Given the description of an element on the screen output the (x, y) to click on. 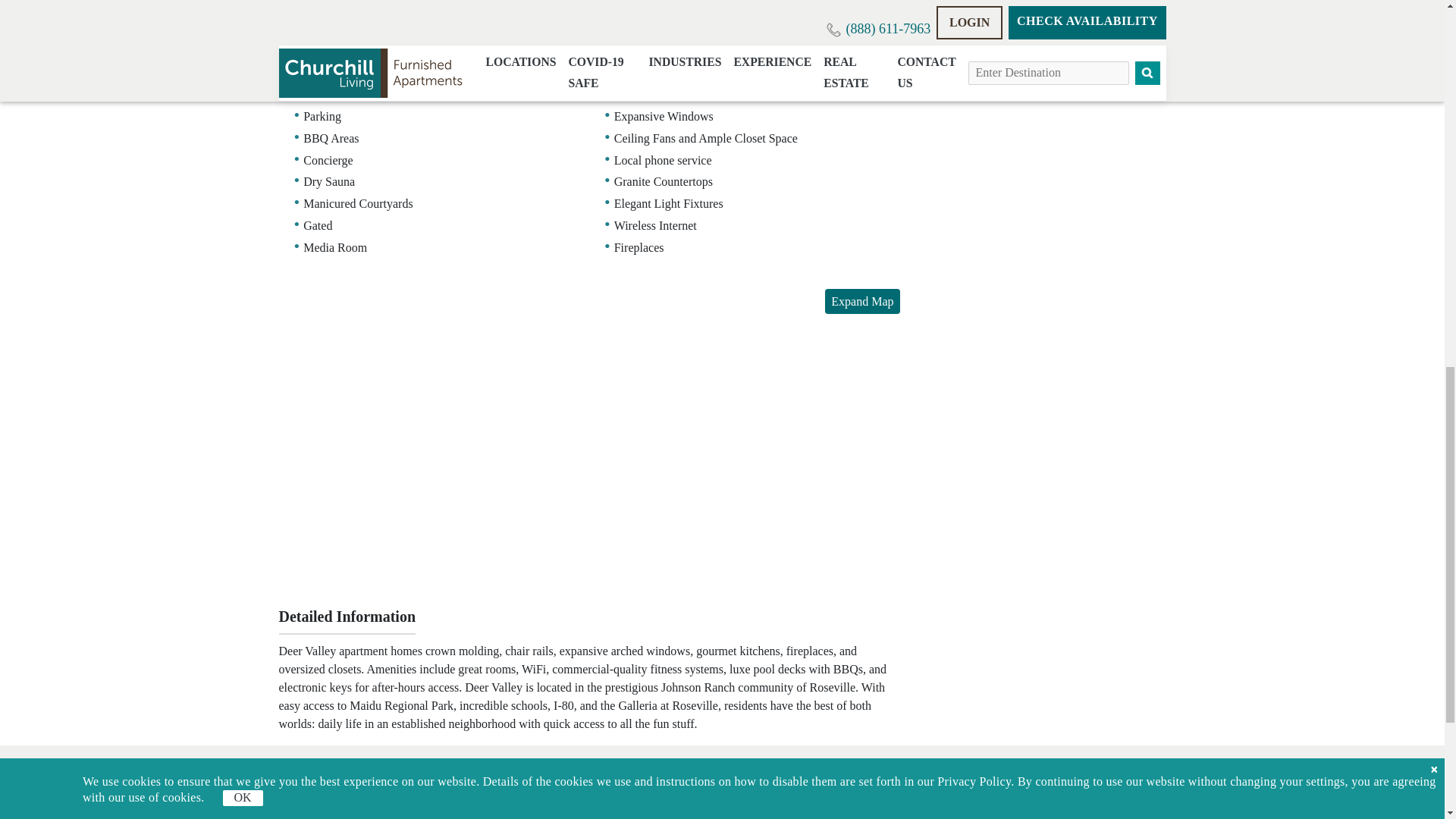
Expand Map (862, 301)
